Given the description of an element on the screen output the (x, y) to click on. 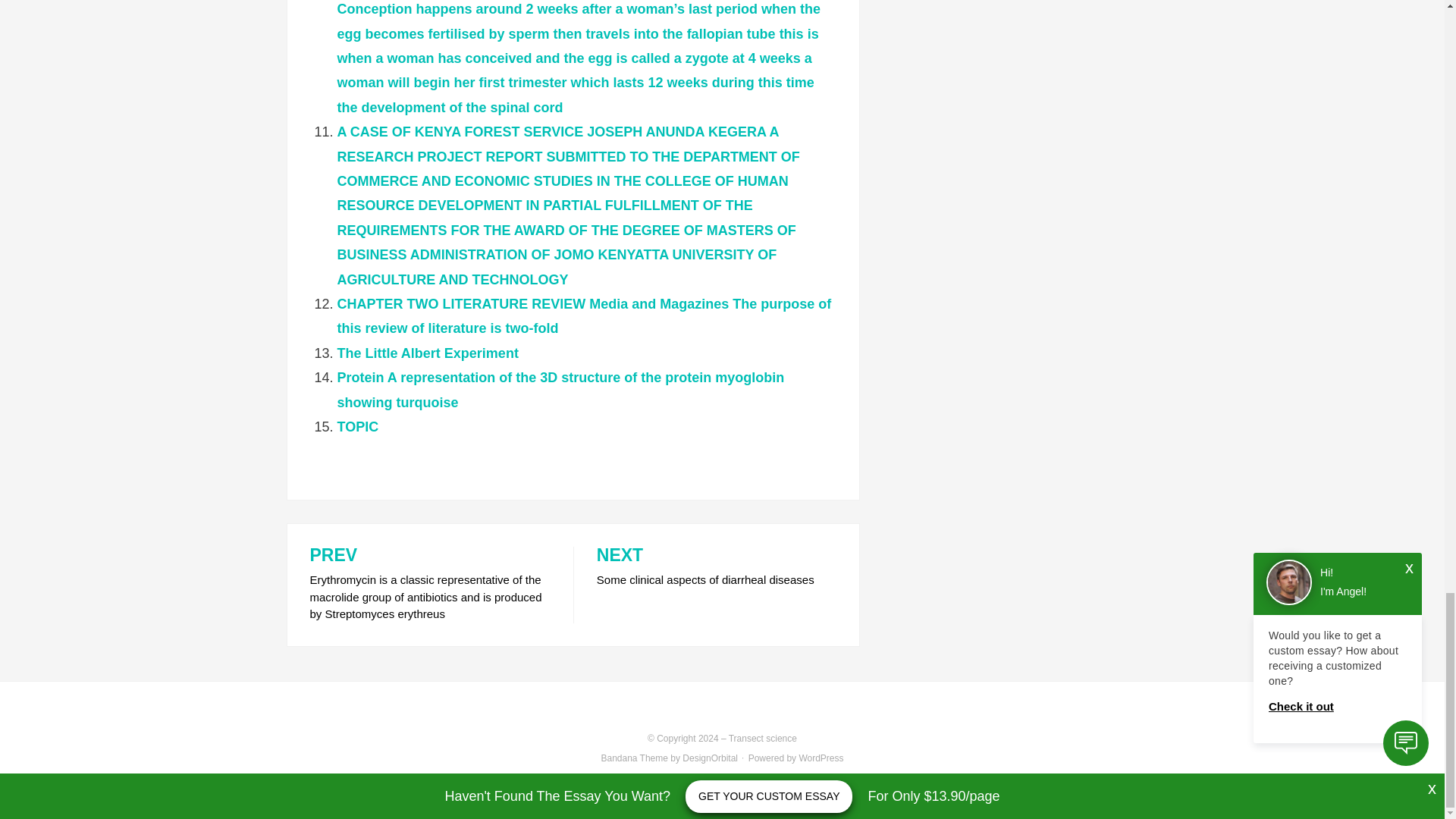
TOPIC (357, 426)
Transect science (762, 738)
The Little Albert Experiment (427, 353)
DesignOrbital (710, 757)
The Little Albert Experiment (427, 353)
